Given the description of an element on the screen output the (x, y) to click on. 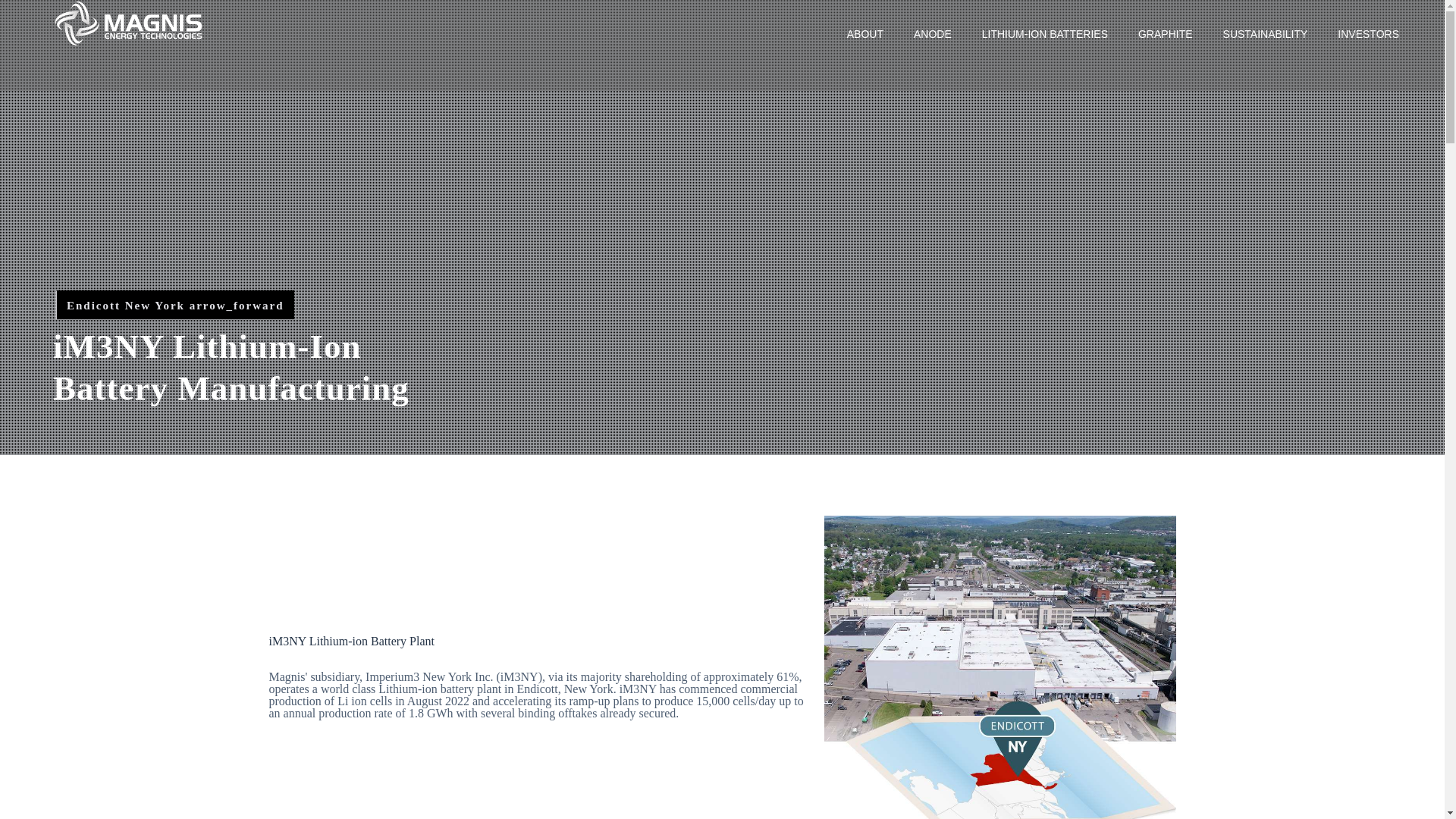
ANODE (932, 33)
LITHIUM-ION BATTERIES (1044, 33)
INVESTORS (1367, 33)
Magnis (128, 22)
GRAPHITE (1165, 33)
SUSTAINABILITY (1265, 33)
ABOUT (864, 33)
